Given the description of an element on the screen output the (x, y) to click on. 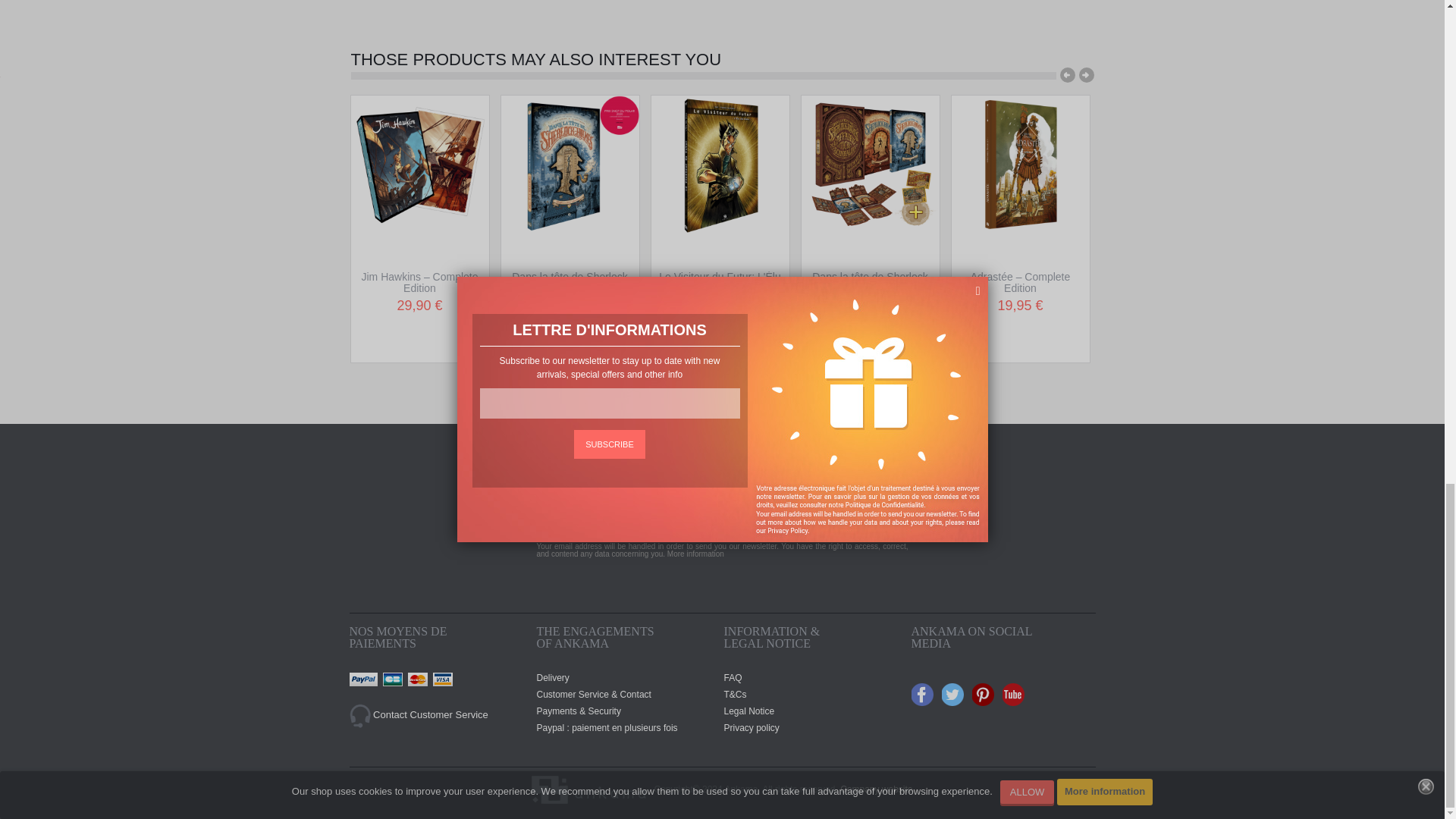
Enter Your Email (676, 521)
